Given the description of an element on the screen output the (x, y) to click on. 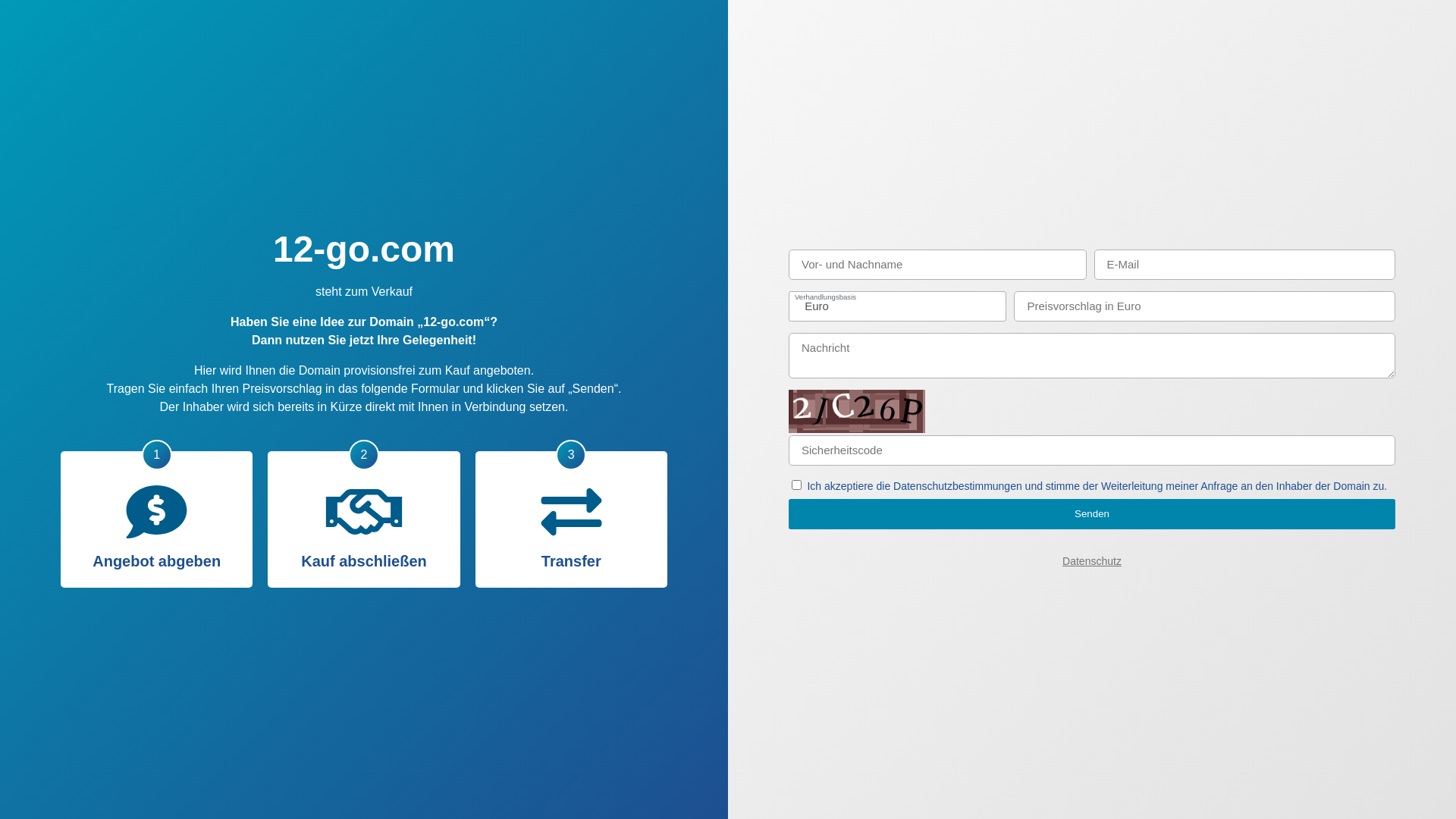
Angebot abgeben Element type: hover (156, 511)
Senden Element type: text (1091, 513)
Transfer Element type: hover (571, 511)
Datenschutz Element type: text (1091, 561)
